Given the description of an element on the screen output the (x, y) to click on. 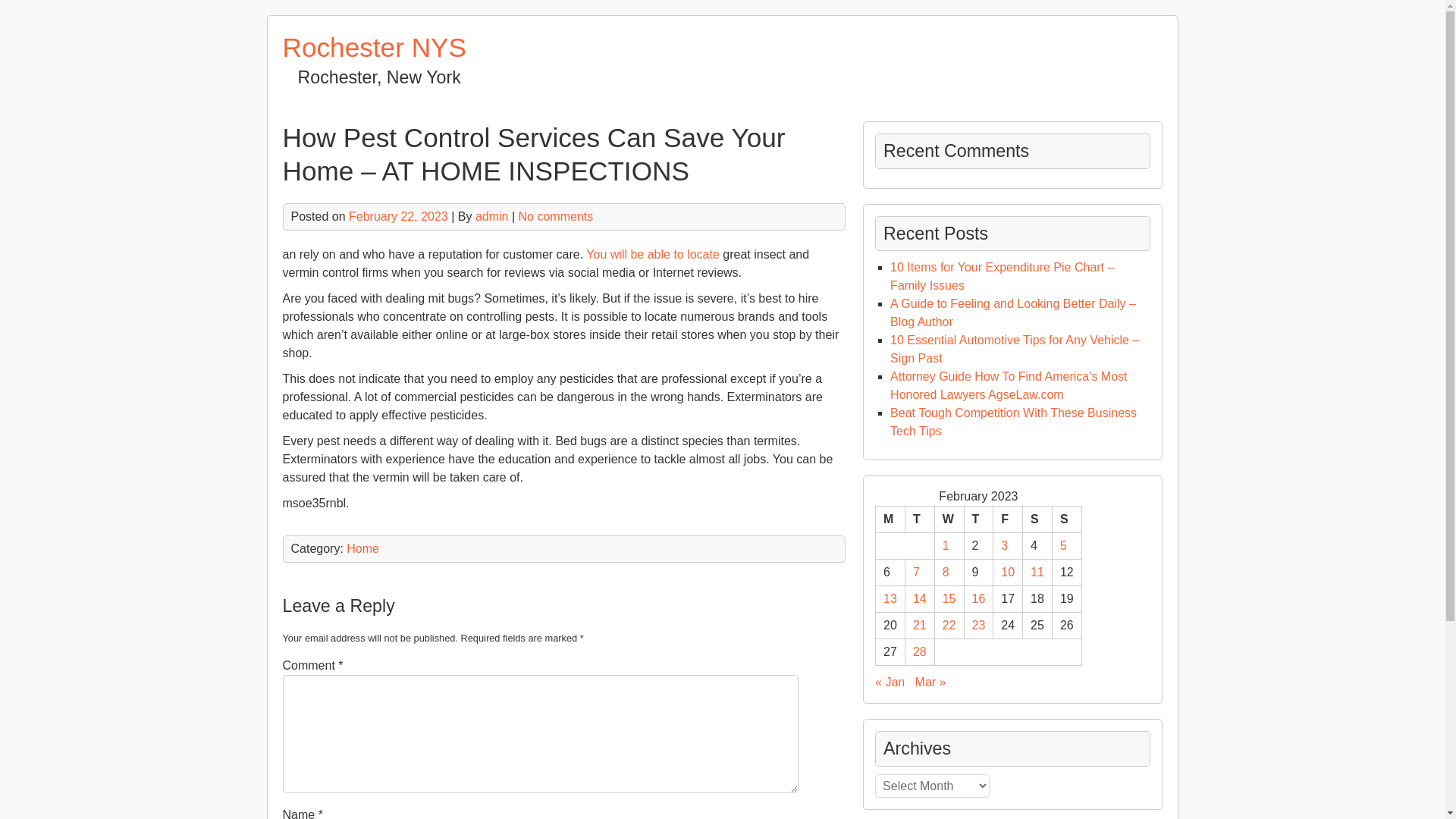
16 (978, 598)
Tuesday (919, 519)
22 (949, 625)
Friday (1007, 519)
Saturday (1037, 519)
11 (1036, 571)
14 (919, 598)
28 (919, 651)
21 (919, 625)
Monday (890, 519)
